Given the description of an element on the screen output the (x, y) to click on. 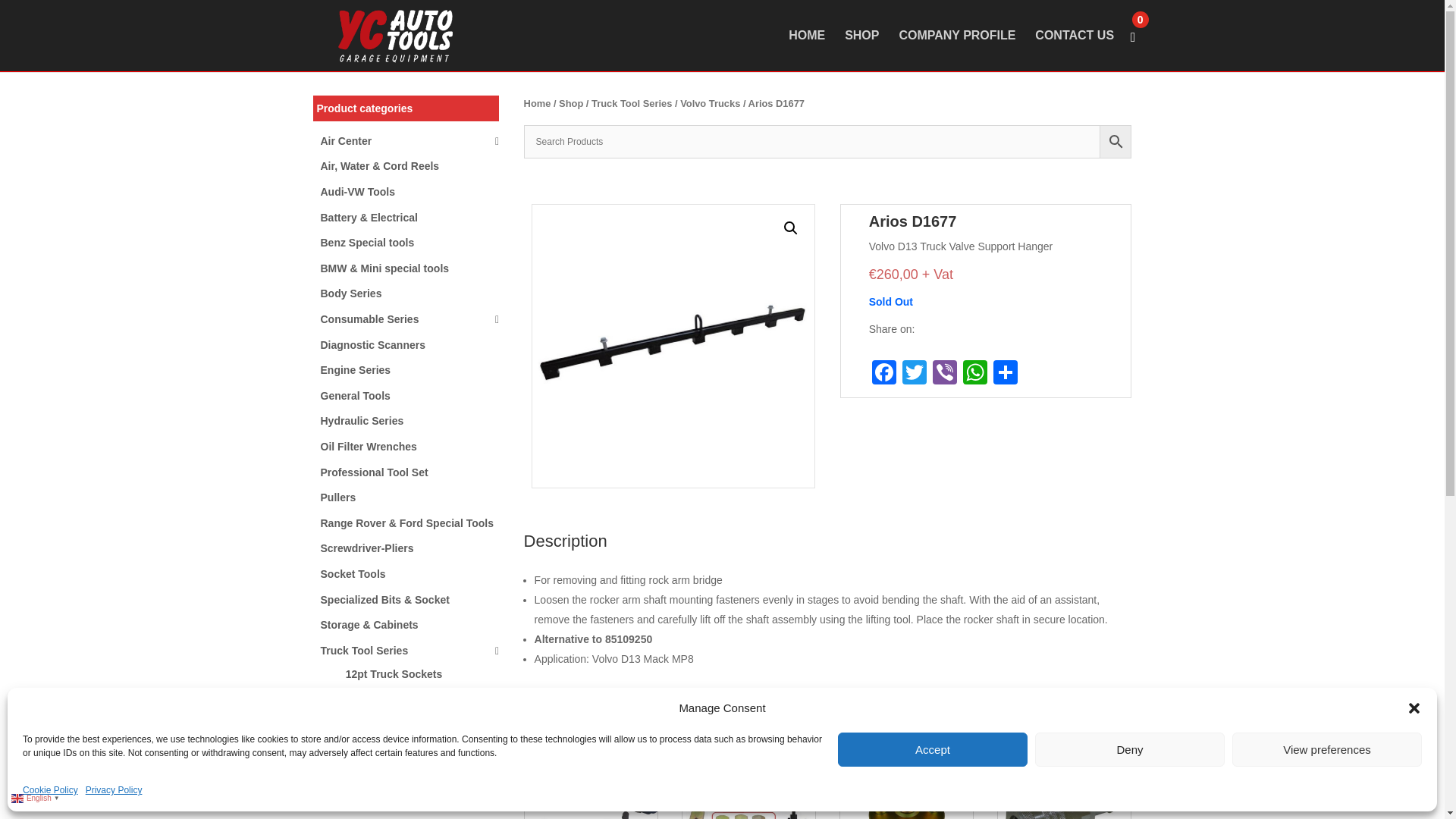
HOME (807, 50)
Cookie Policy (50, 791)
Viber (944, 374)
CONTACT US (1074, 50)
Privacy Policy (113, 791)
View preferences (1326, 749)
Facebook (884, 374)
Audi-VW Tools (357, 191)
WhatsApp (974, 374)
0 (1139, 19)
